Given the description of an element on the screen output the (x, y) to click on. 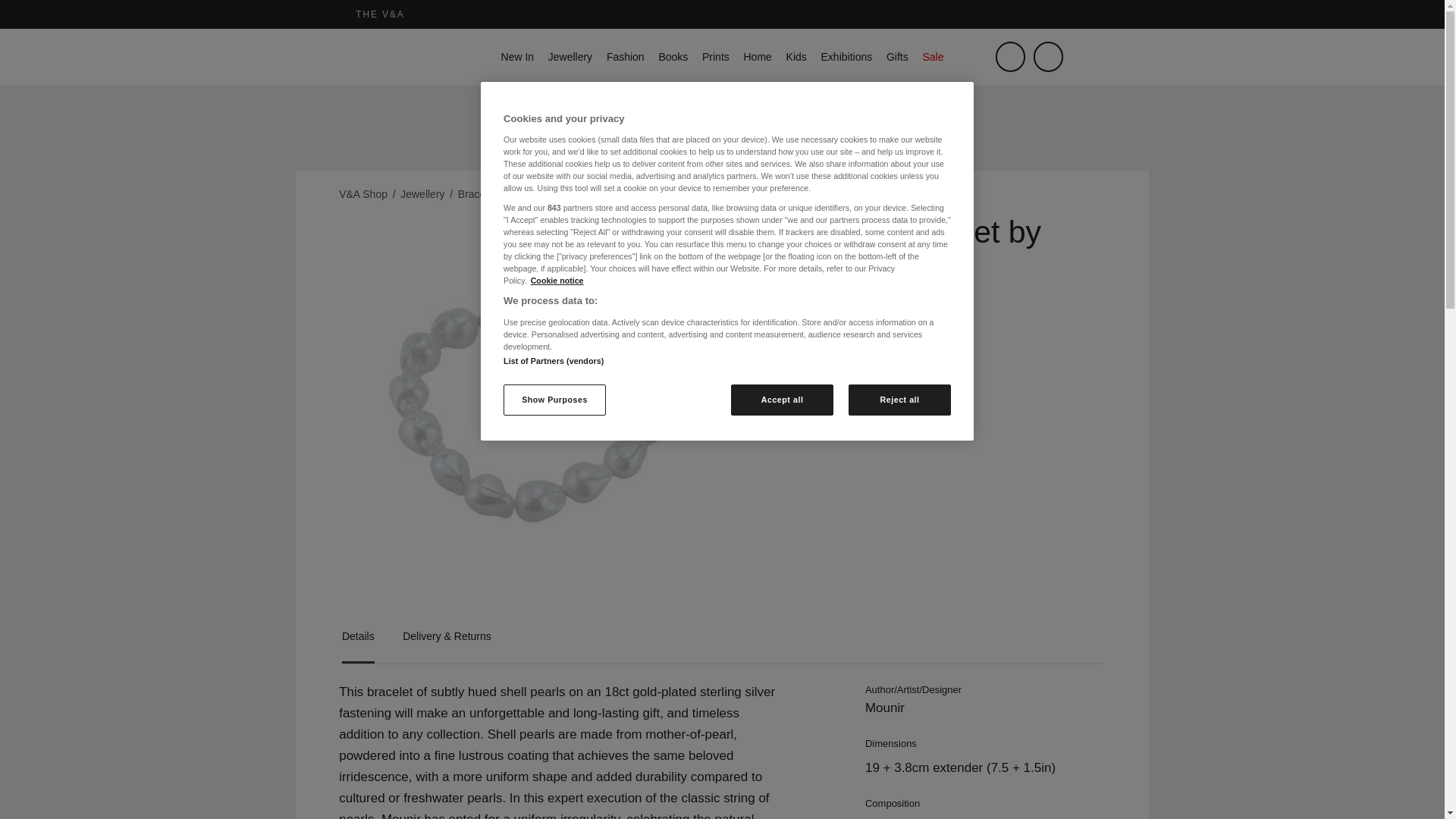
Fashion (626, 56)
Victoria and Albert Museum Shop Home (381, 56)
New In (517, 56)
View Bag (1084, 67)
Jewellery (570, 56)
